Given the description of an element on the screen output the (x, y) to click on. 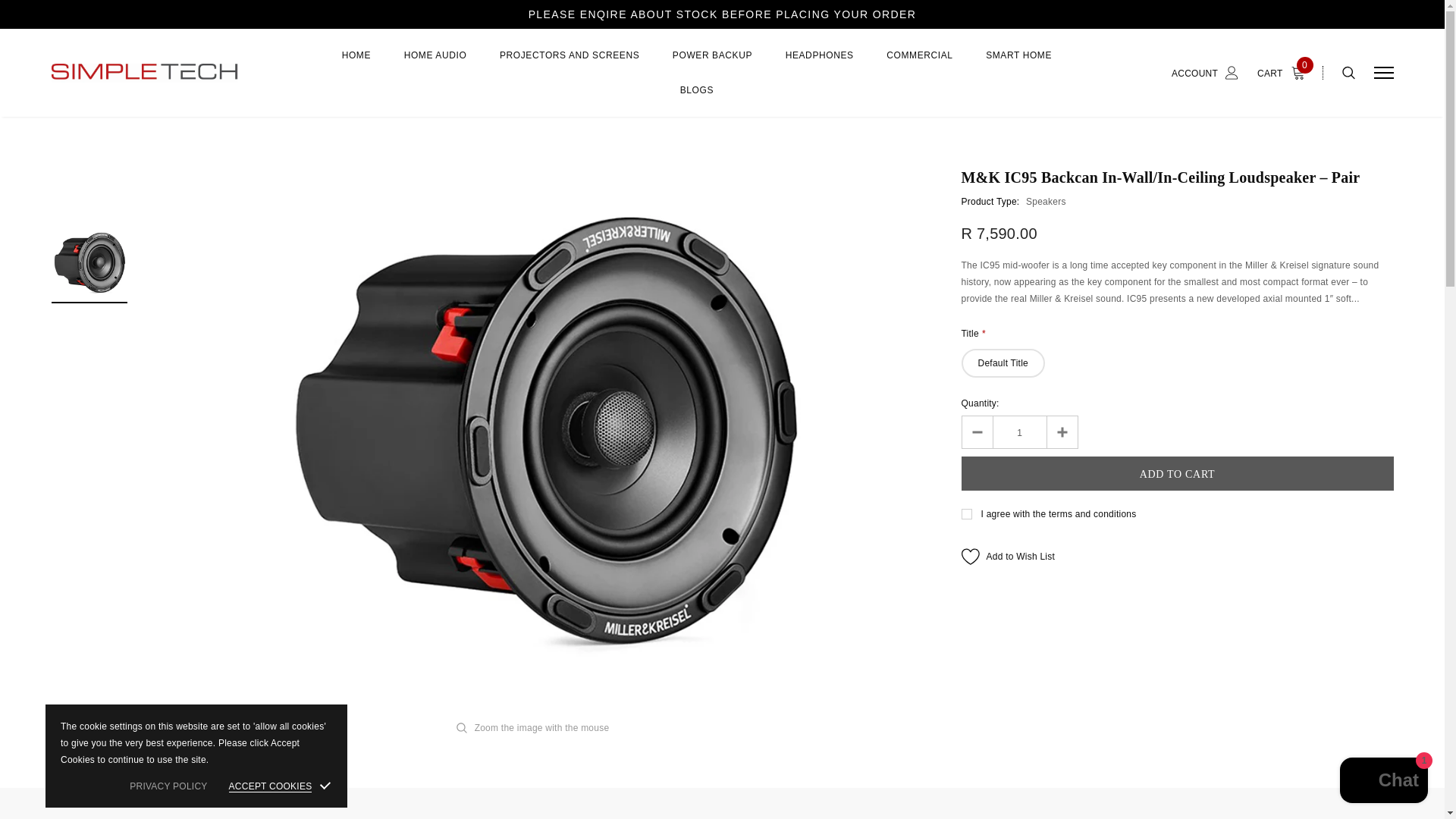
1 (1019, 431)
HOME (356, 63)
Add to Cart (1176, 473)
HOME AUDIO (435, 63)
PROJECTORS AND SCREENS (569, 63)
Right Menu (1383, 72)
Cart (1285, 72)
Logo (167, 72)
